Given the description of an element on the screen output the (x, y) to click on. 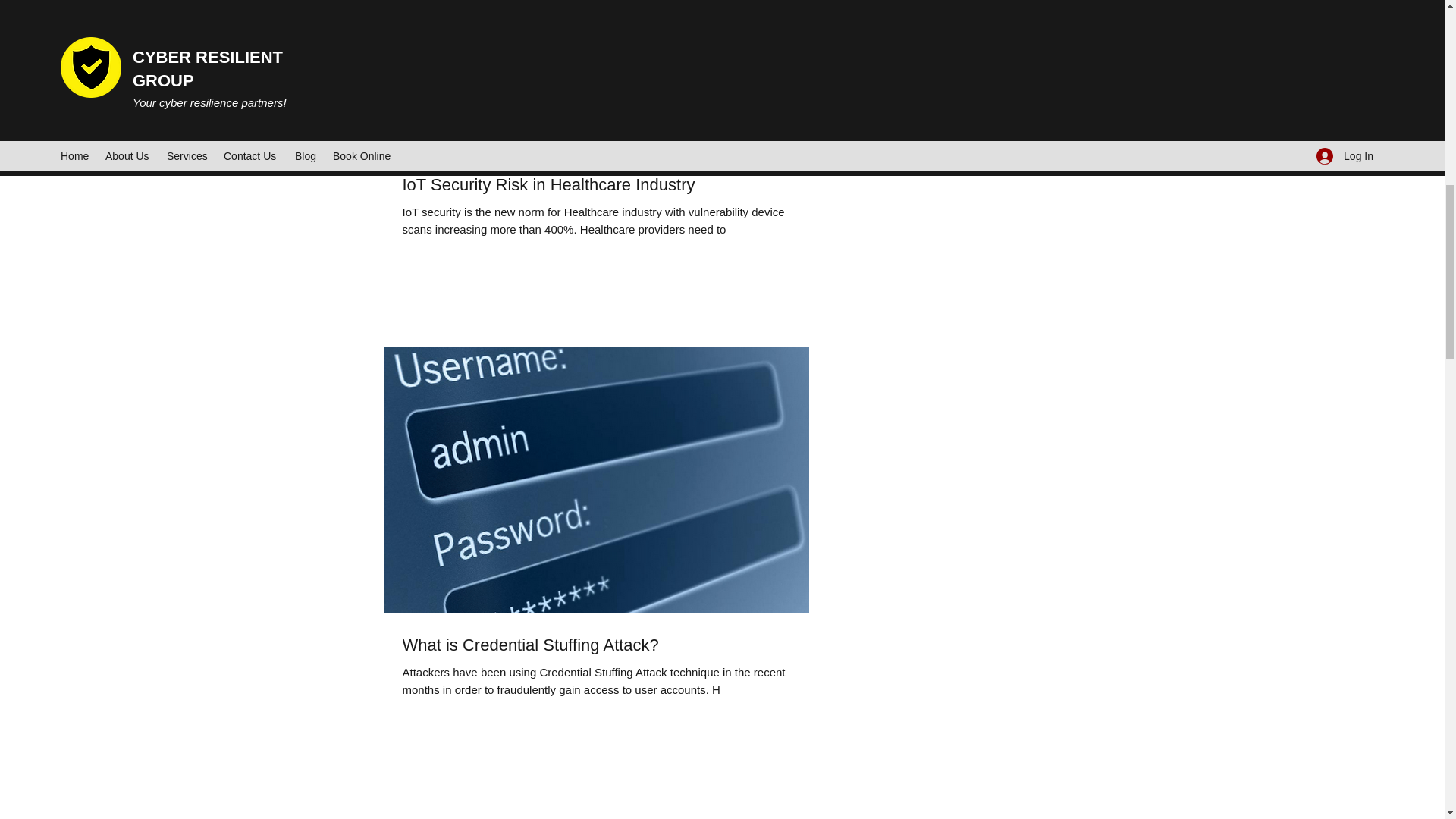
endpoint protection (1010, 31)
Malwarebytes (989, 73)
endpoint detection and response (927, 10)
kaspersky (874, 73)
Sophos (868, 116)
malware (927, 73)
endpoint management (903, 31)
Sentinelone (1010, 95)
Intercept X (1001, 52)
remediation (946, 95)
